Given the description of an element on the screen output the (x, y) to click on. 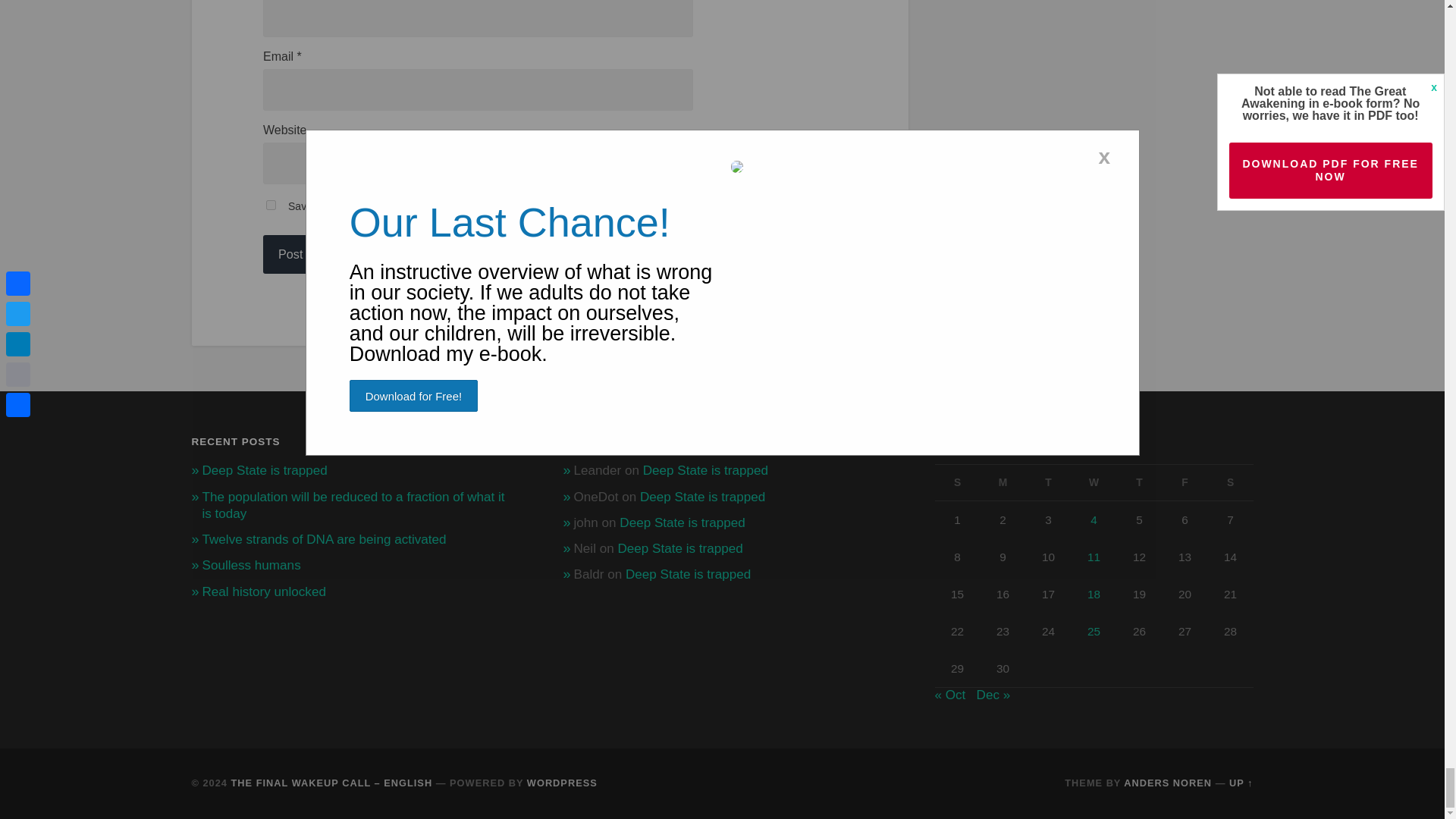
Monday (1002, 482)
Sunday (956, 482)
yes (271, 204)
Post Comment (318, 254)
